Given the description of an element on the screen output the (x, y) to click on. 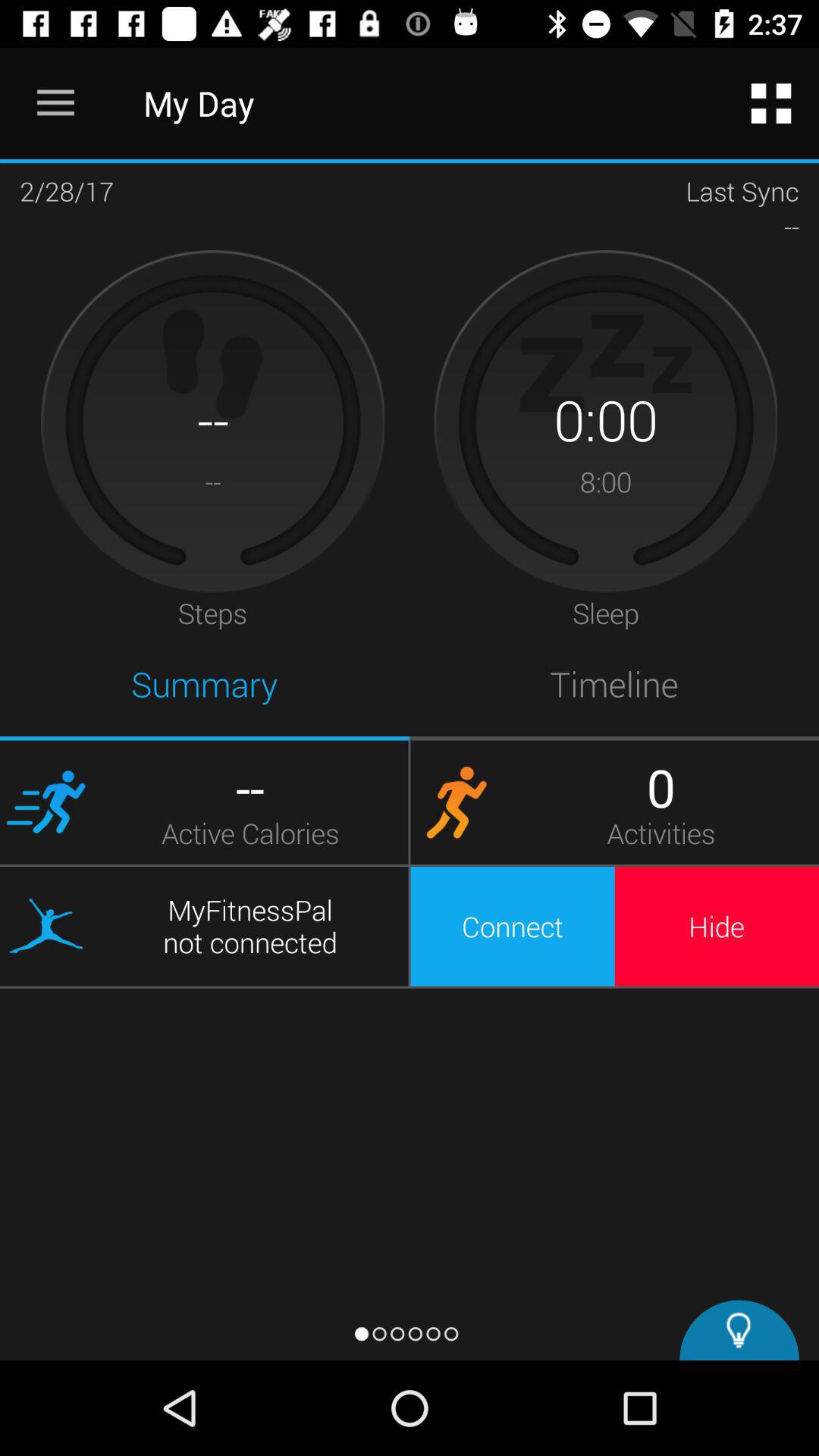
turn off the icon next to connect (716, 926)
